Given the description of an element on the screen output the (x, y) to click on. 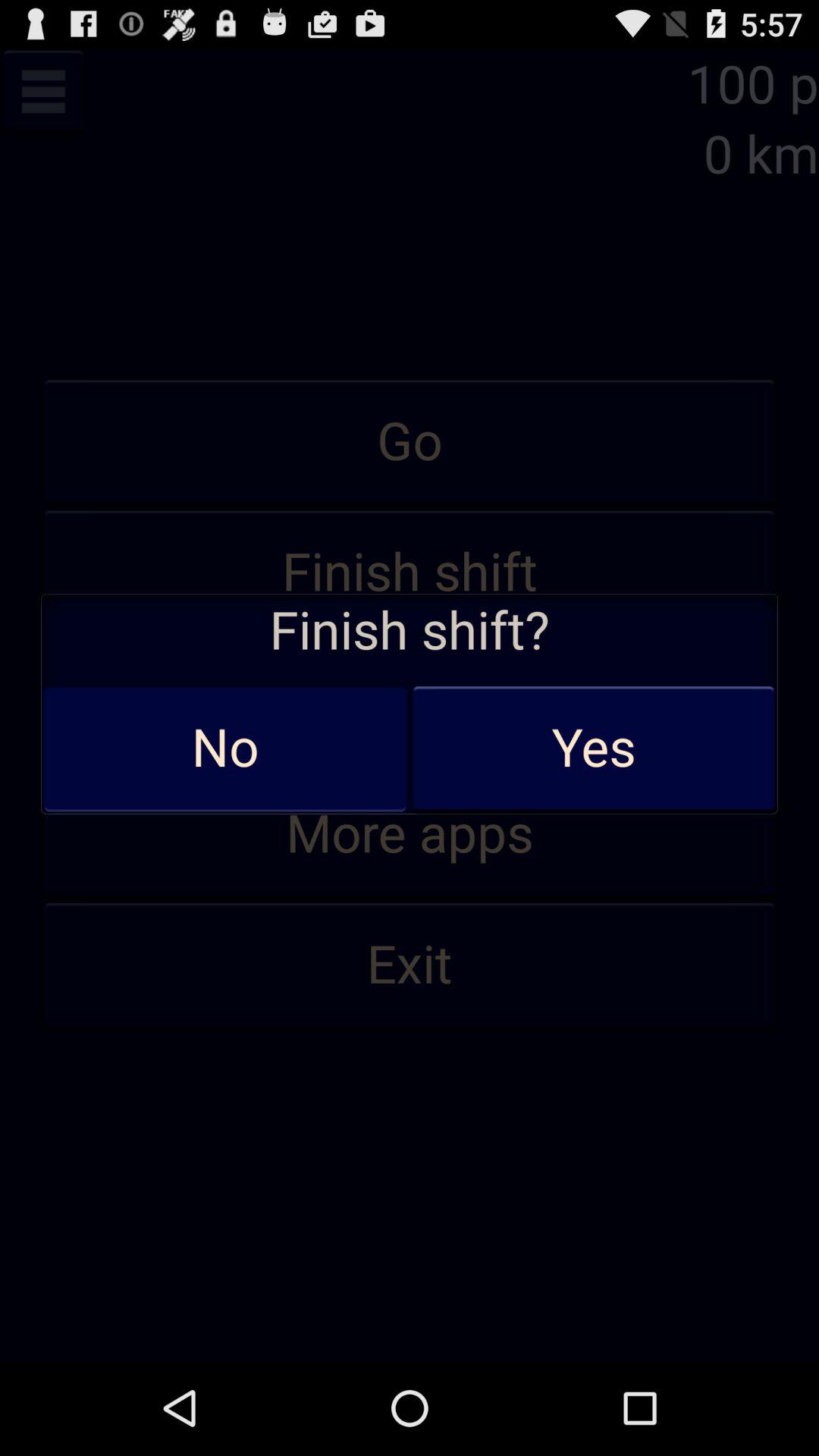
turn on the app below the finish shift? icon (593, 748)
